Given the description of an element on the screen output the (x, y) to click on. 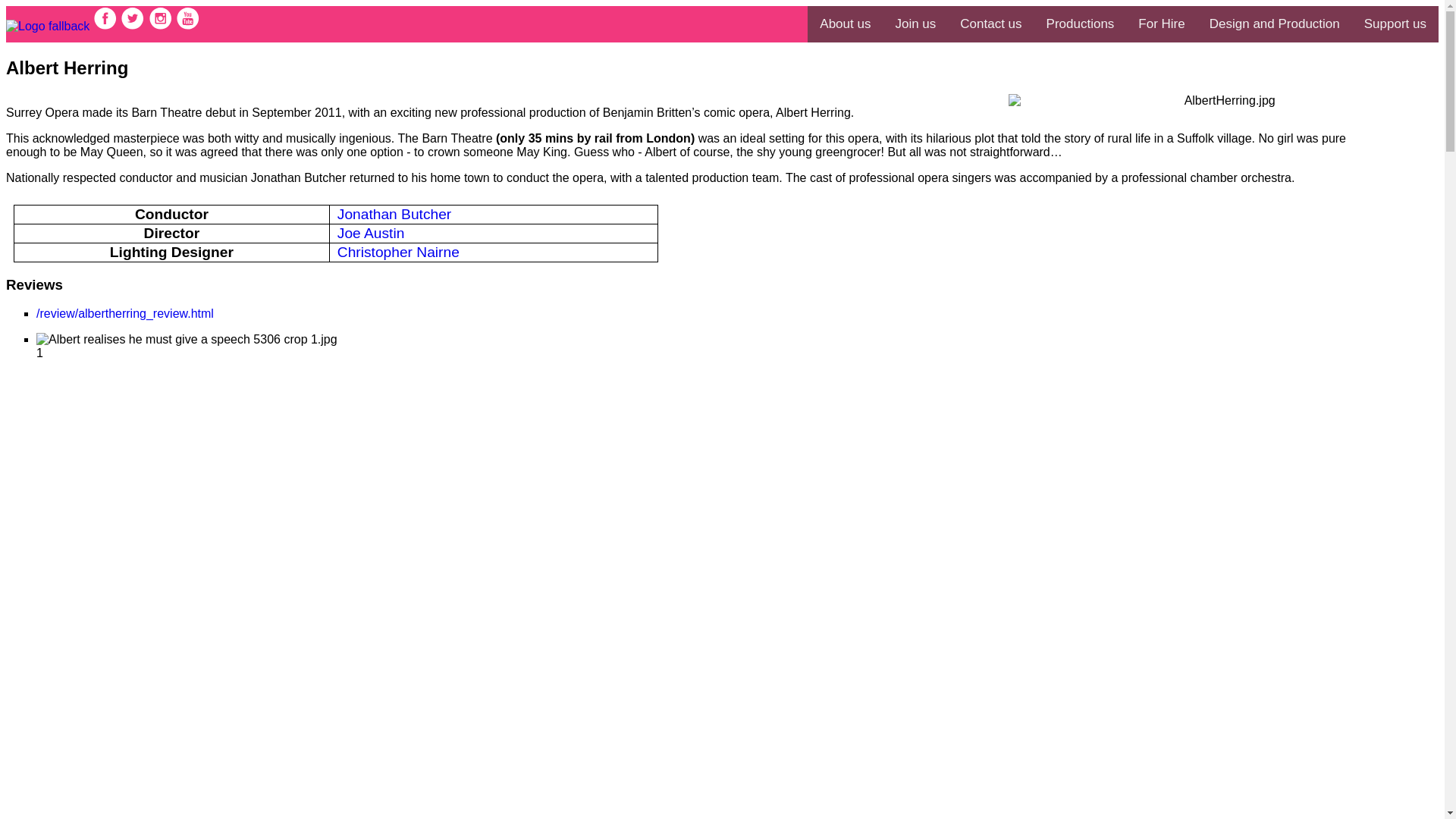
Productions (1079, 23)
Christopher Nairne (398, 252)
About us (845, 23)
Join us (914, 23)
For Hire (1160, 23)
Contact us (990, 23)
Facebook link (106, 25)
Youtube link (188, 25)
Instagram link (162, 25)
Twitter link (134, 25)
